Given the description of an element on the screen output the (x, y) to click on. 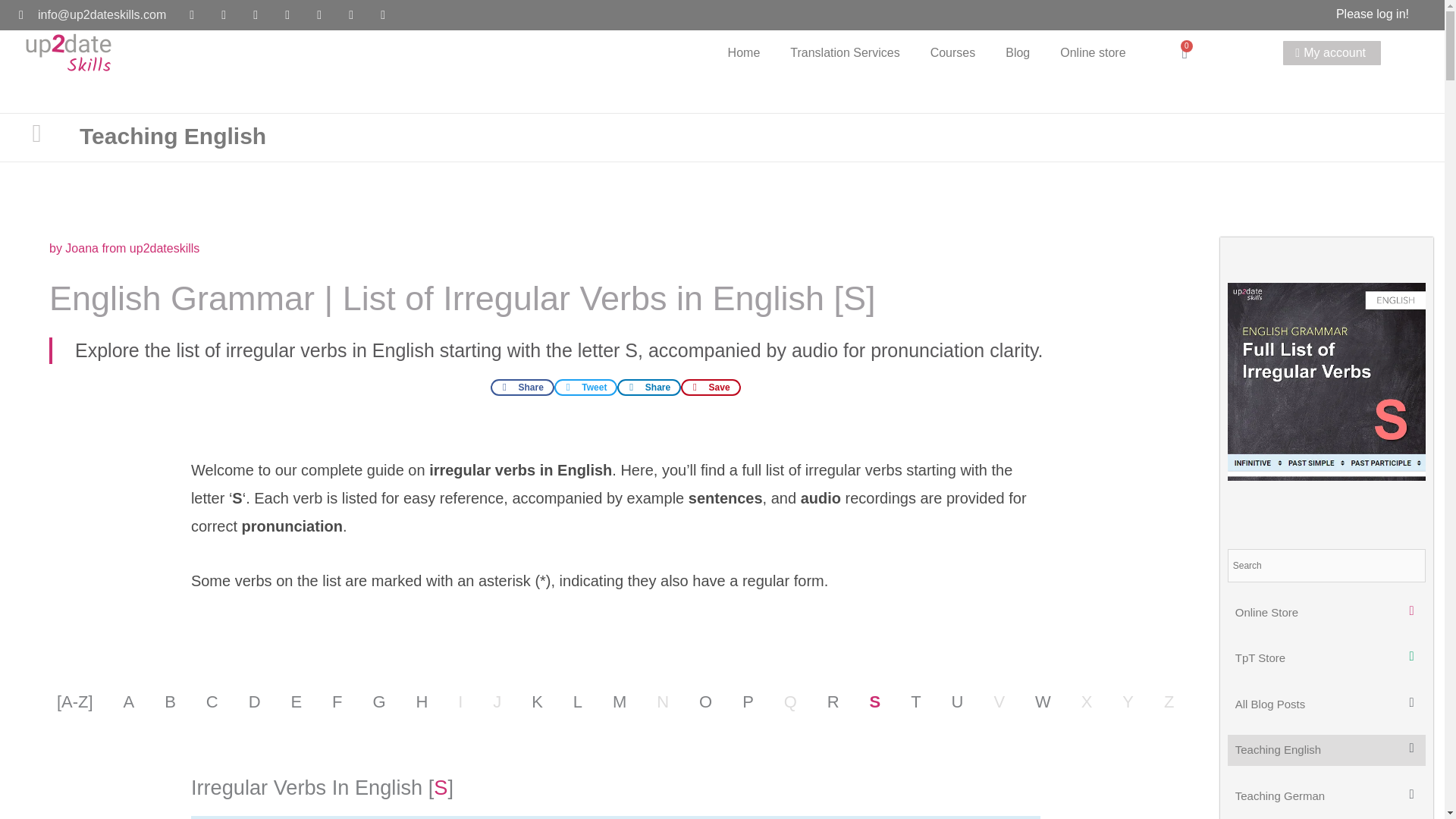
Pinterest (287, 15)
Online store (1092, 53)
Youtube (191, 15)
Apple-alt (319, 15)
Facebook (223, 15)
Tiktok (350, 15)
Home (744, 53)
Twitter (382, 15)
by Joana from up2dateskills (124, 248)
Blog (1017, 53)
